Given the description of an element on the screen output the (x, y) to click on. 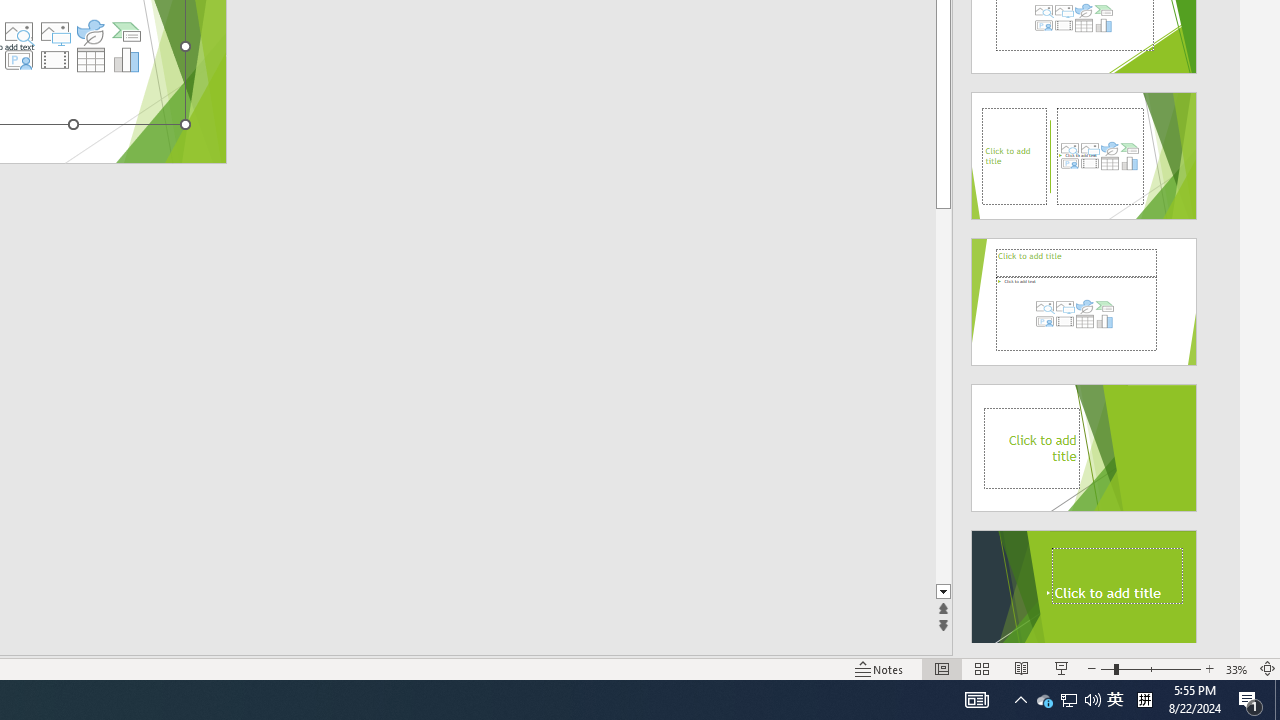
Insert Table (91, 60)
Zoom 33% (1236, 668)
Insert Video (54, 60)
Stock Images (18, 32)
Insert a SmartArt Graphic (127, 32)
